Given the description of an element on the screen output the (x, y) to click on. 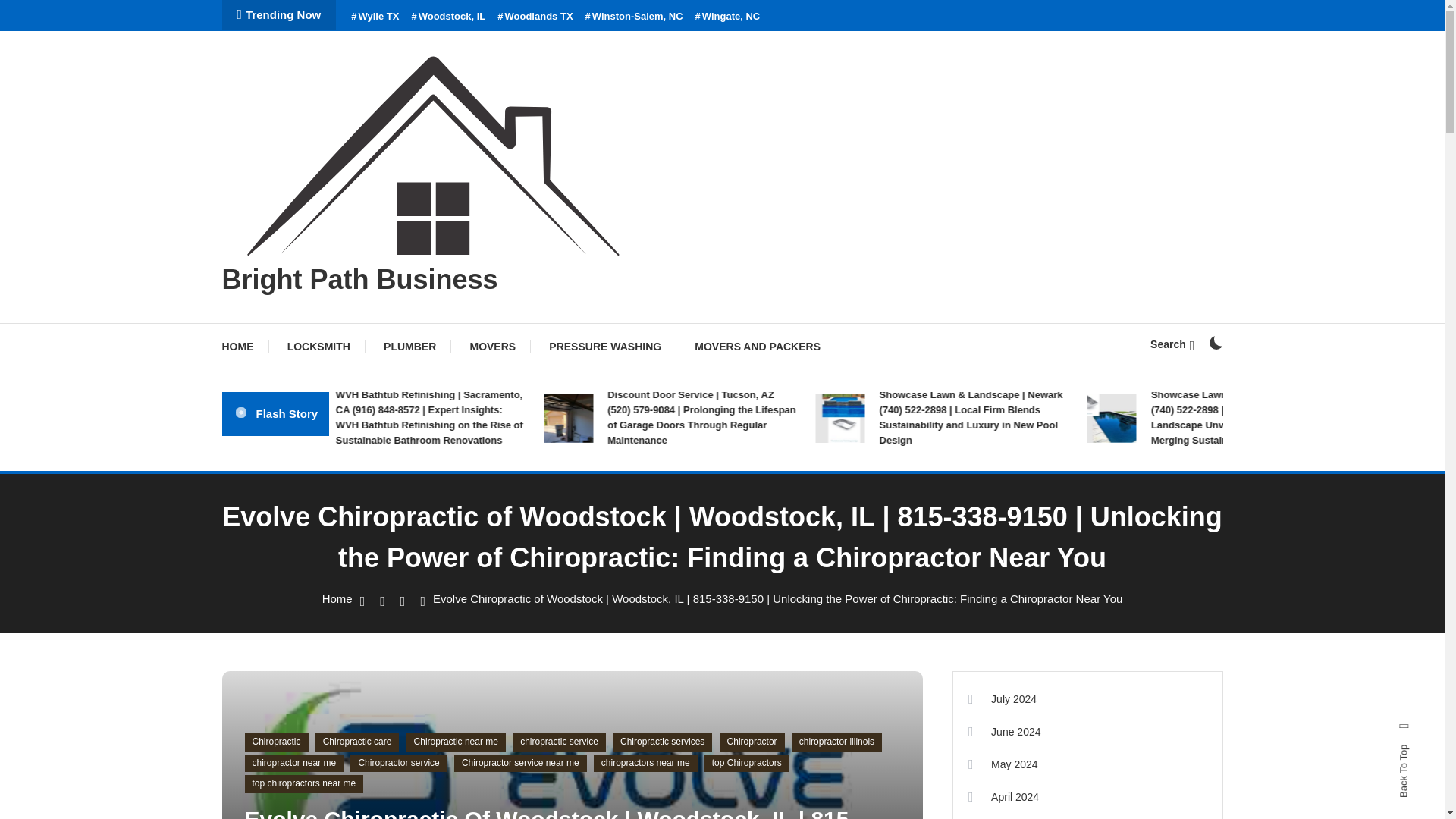
Wingate, NC (727, 16)
PLUMBER (409, 346)
Search (768, 434)
MOVERS (492, 346)
Bright Path Business (359, 278)
HOME (244, 346)
on (1215, 342)
Woodlands TX (534, 16)
Home (336, 598)
PRESSURE WASHING (605, 346)
Woodstock, IL (447, 16)
MOVERS AND PACKERS (757, 346)
Winston-Salem, NC (633, 16)
Wylie TX (374, 16)
LOCKSMITH (318, 346)
